Given the description of an element on the screen output the (x, y) to click on. 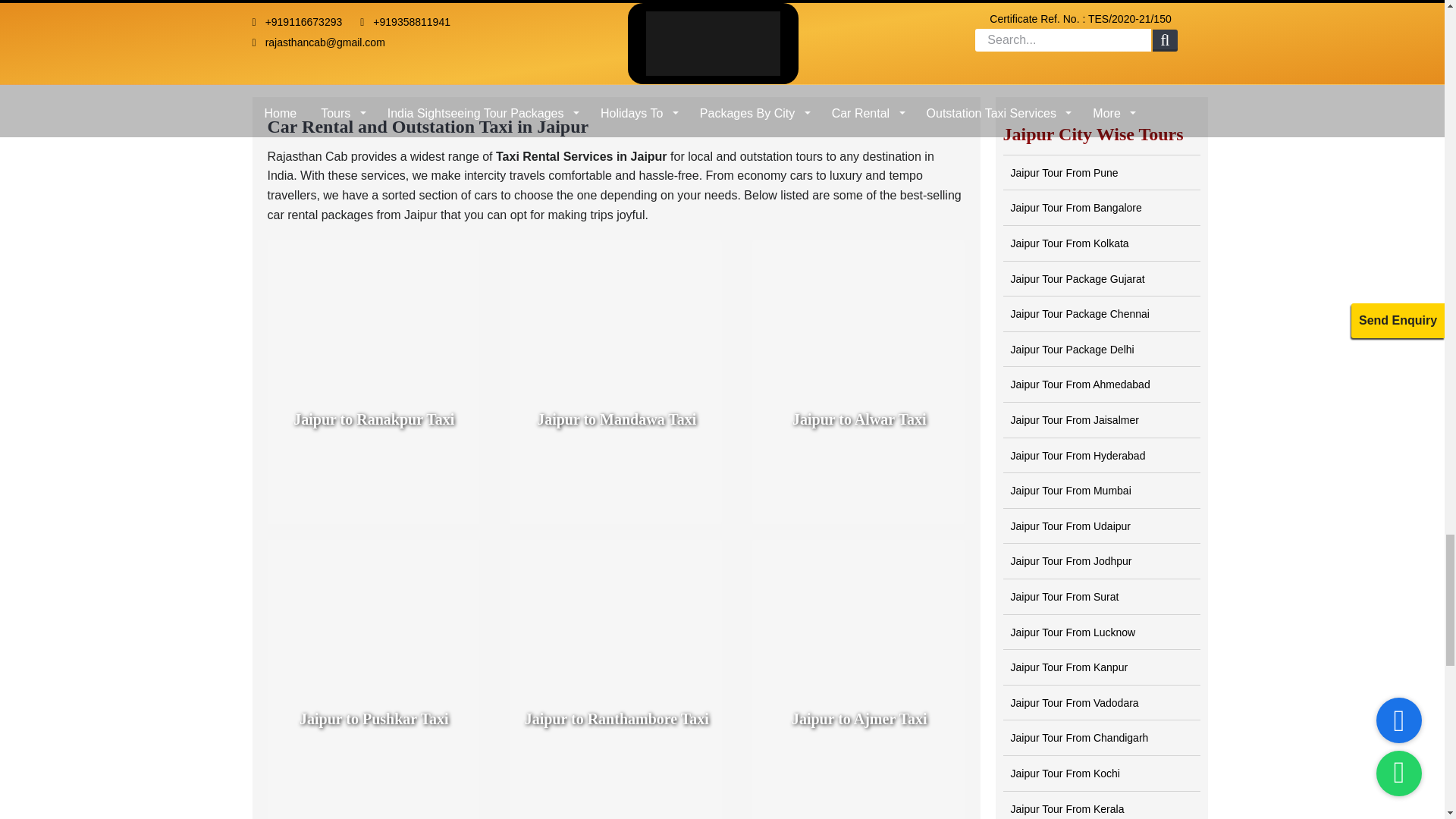
Jaipur Shopping Tour (857, 21)
Jaipur 1 Day Tour (372, 21)
Jaipur Half Day Tour (615, 21)
Jaipur Neemrana Same Day Tour (1100, 21)
